Given the description of an element on the screen output the (x, y) to click on. 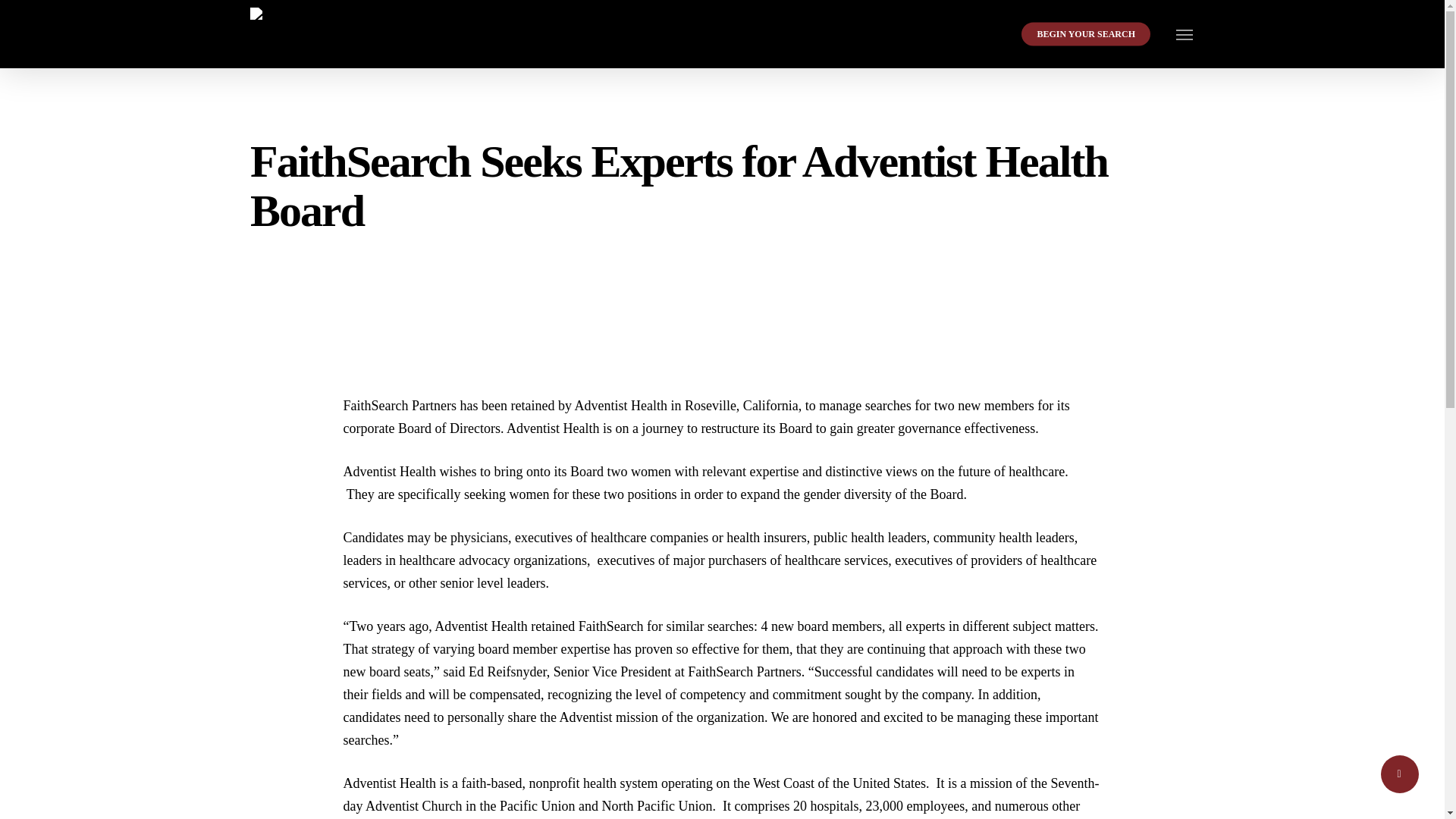
Posts by FaithSearch Staff (309, 253)
Menu (1184, 33)
BEGIN YOUR SEARCH (1086, 33)
FaithSearch Staff (309, 253)
